Given the description of an element on the screen output the (x, y) to click on. 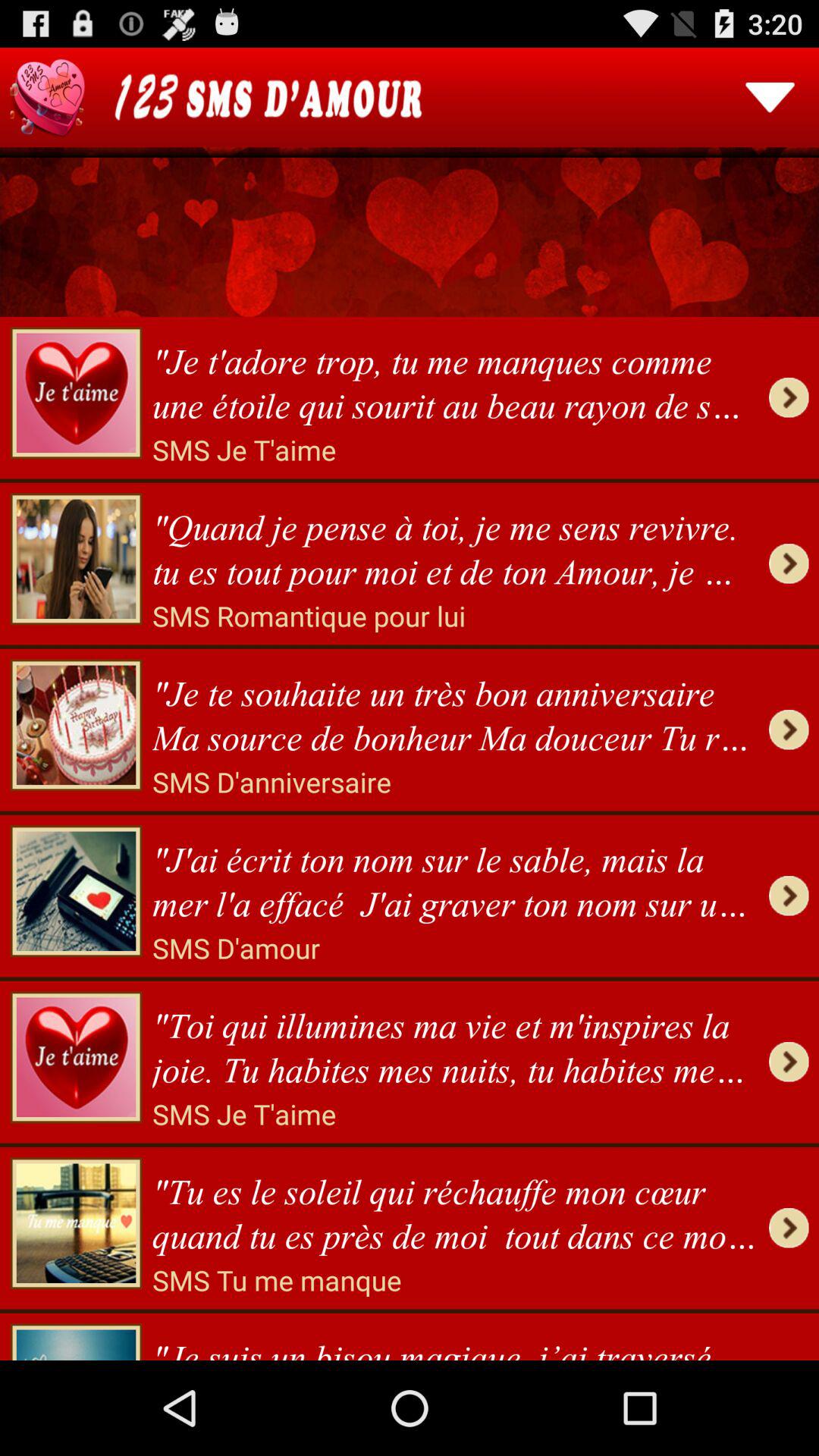
flip to the quand je pense item (455, 545)
